Given the description of an element on the screen output the (x, y) to click on. 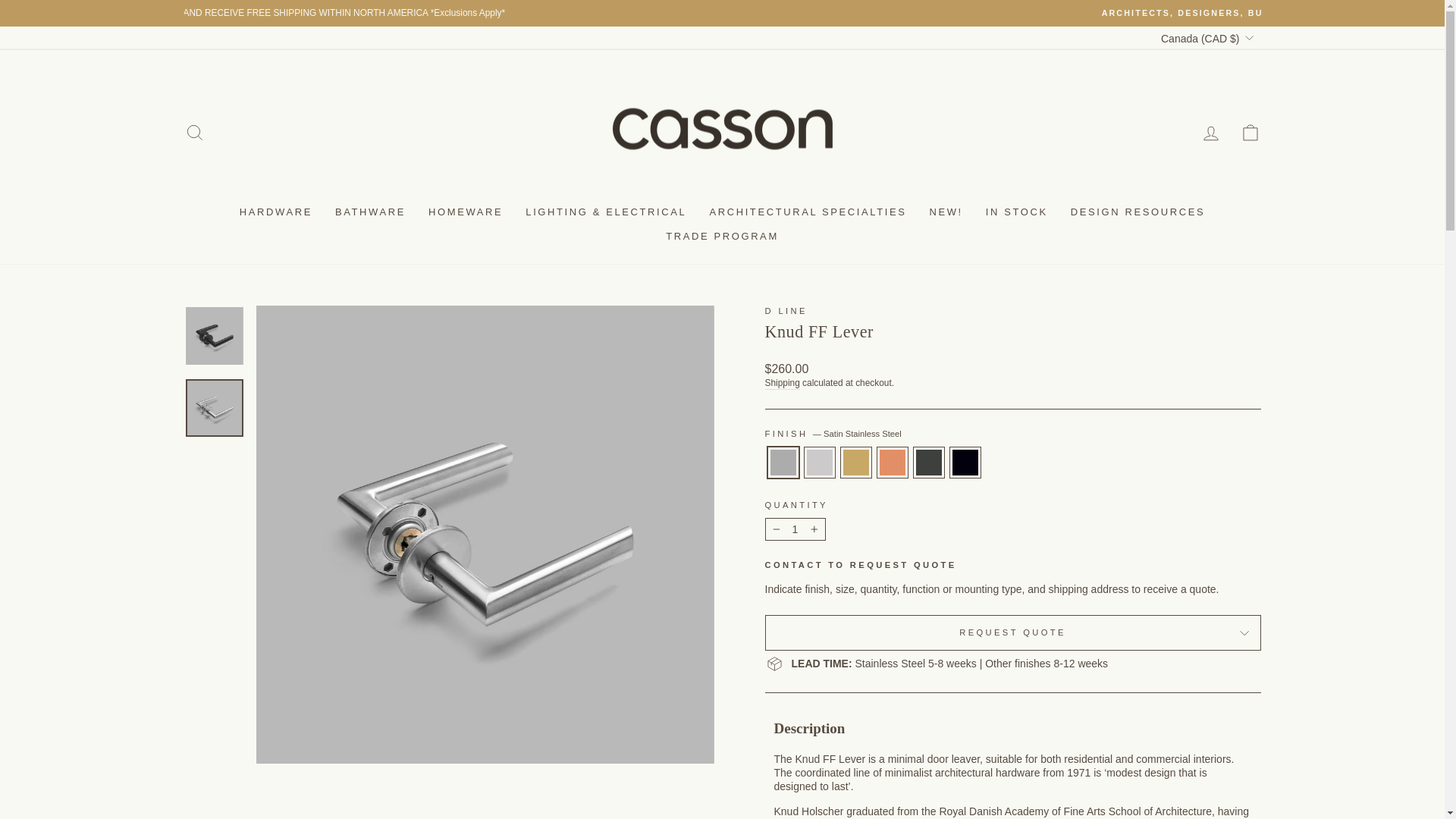
1 (794, 528)
ICON-BAG-MINIMAL (1249, 132)
ACCOUNT (1210, 133)
ICON-SEARCH (194, 132)
d line (785, 310)
